Given the description of an element on the screen output the (x, y) to click on. 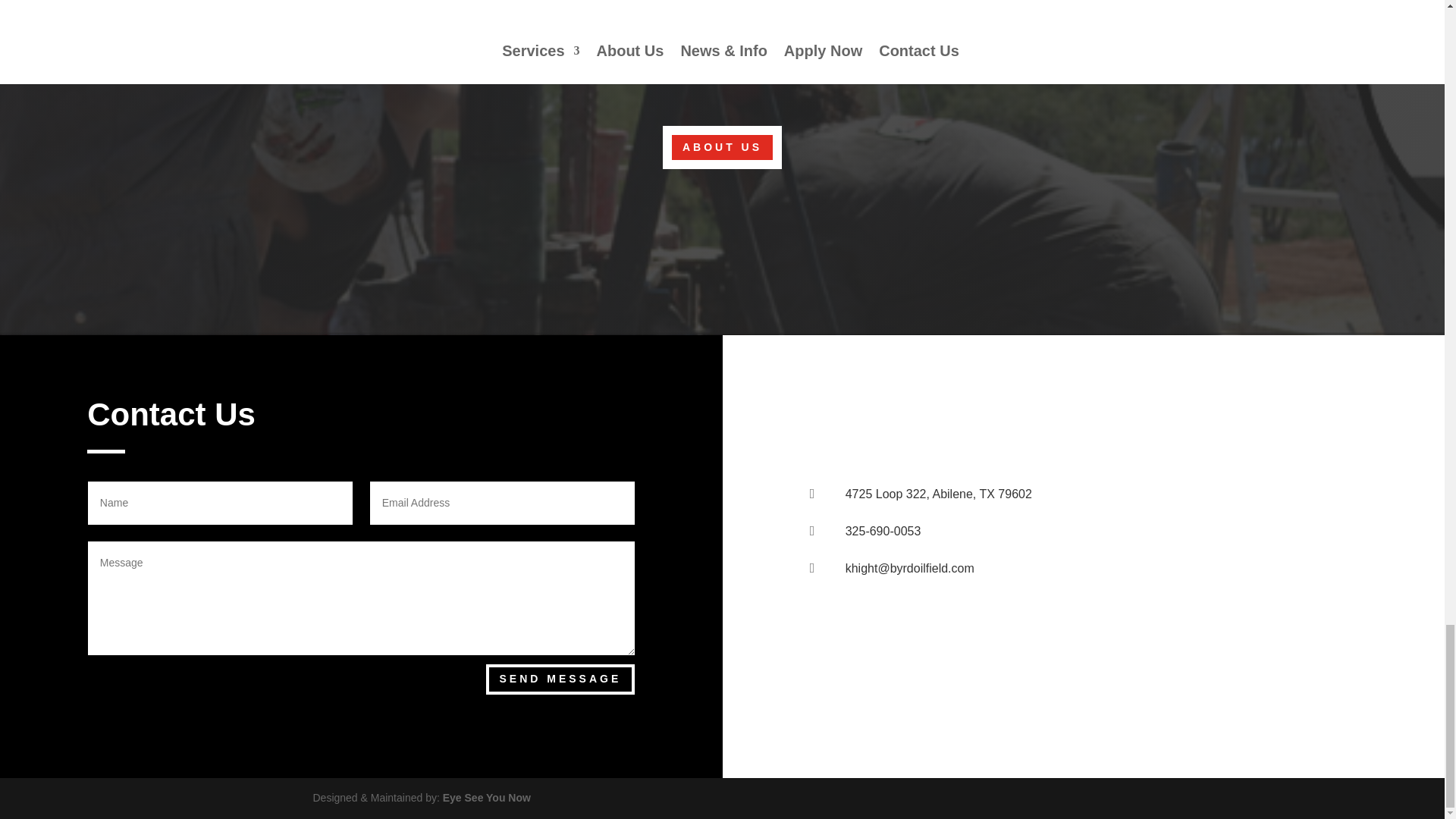
SEND MESSAGE (559, 679)
Eye See You Now (486, 797)
ABOUT US (721, 147)
